Given the description of an element on the screen output the (x, y) to click on. 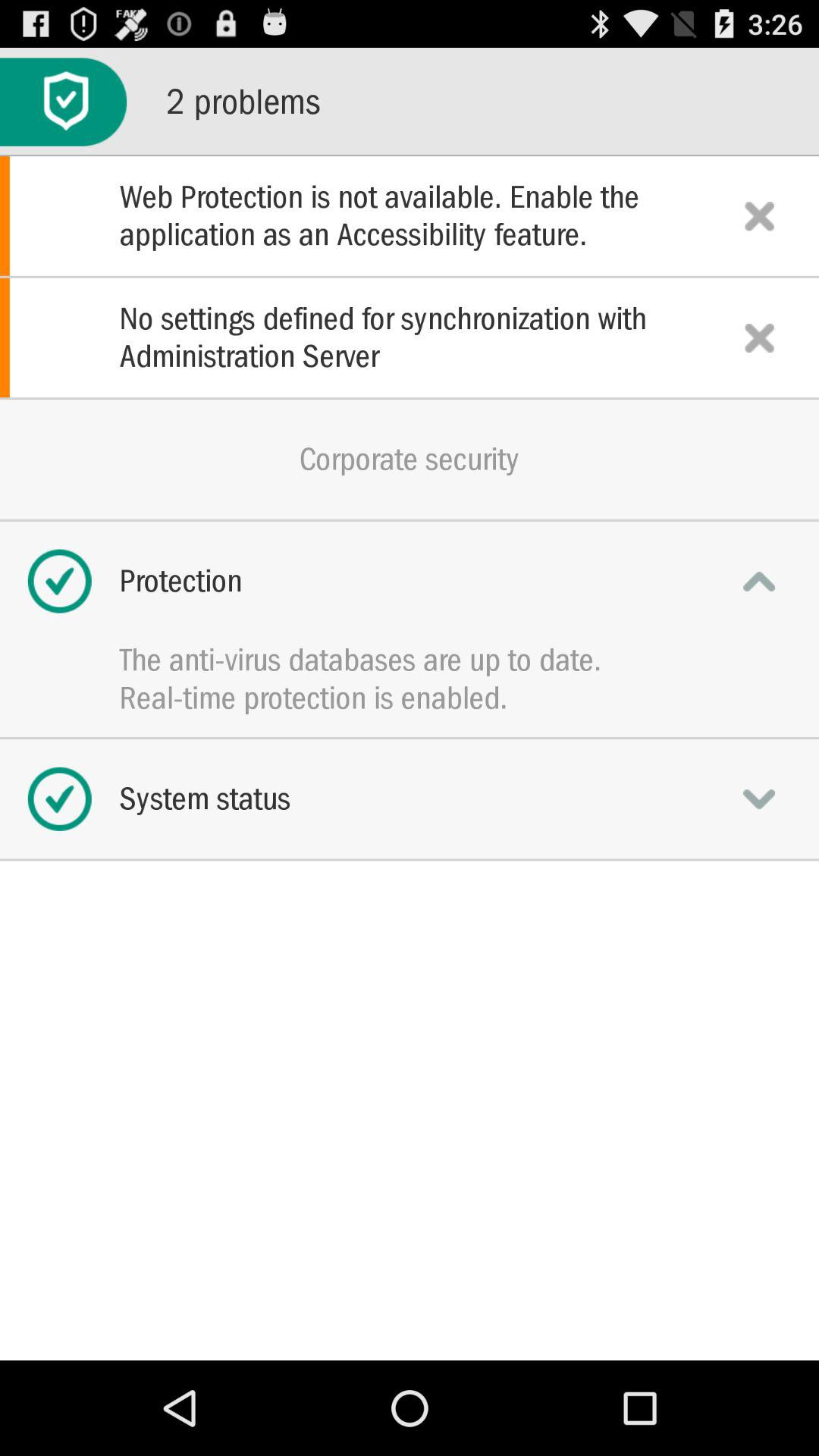
flip until system status icon (409, 798)
